Given the description of an element on the screen output the (x, y) to click on. 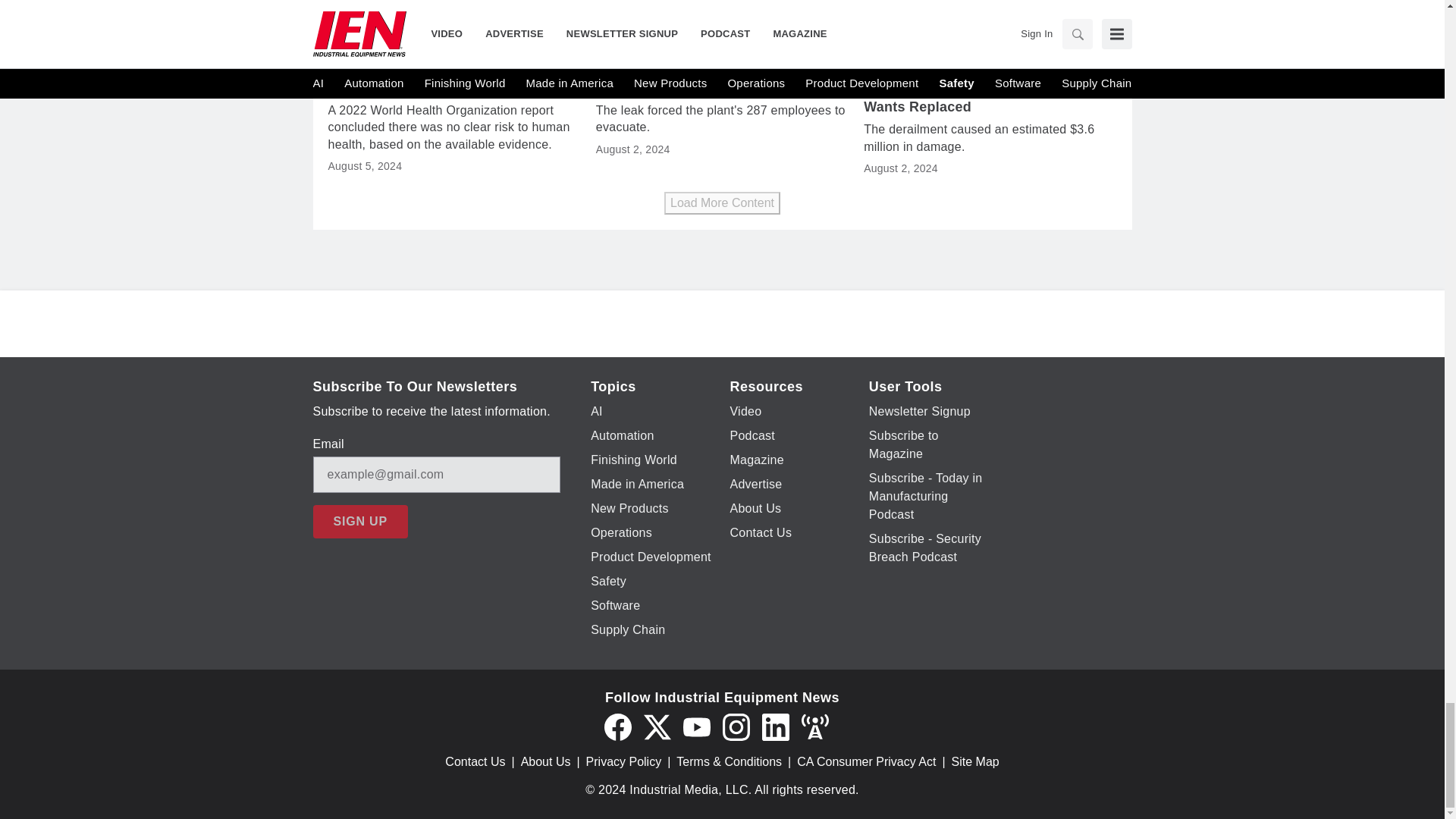
Facebook icon (617, 727)
YouTube icon (696, 727)
Instagram icon (735, 727)
LinkedIn icon (775, 727)
Twitter X icon (656, 727)
